Given the description of an element on the screen output the (x, y) to click on. 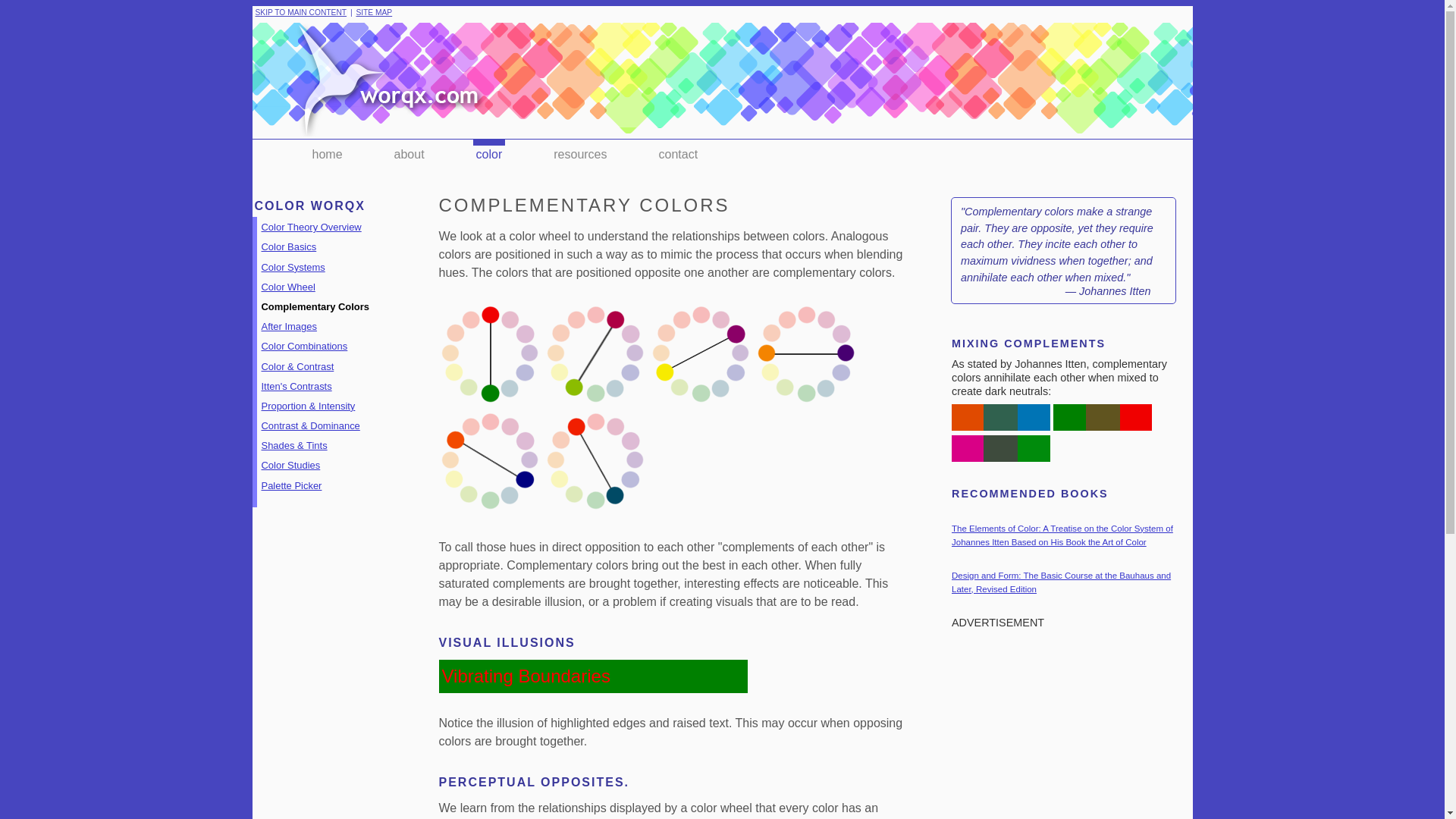
about (409, 153)
SKIP TO MAIN CONTENT (300, 12)
Color Systems (292, 266)
Color Studies (290, 464)
Palette Picker (290, 485)
Color Basics (287, 246)
Color Wheel (287, 286)
home (327, 153)
After Images (287, 326)
SITE MAP (373, 12)
Advertisement (1068, 727)
Color Combinations (303, 346)
contact (678, 153)
